Given the description of an element on the screen output the (x, y) to click on. 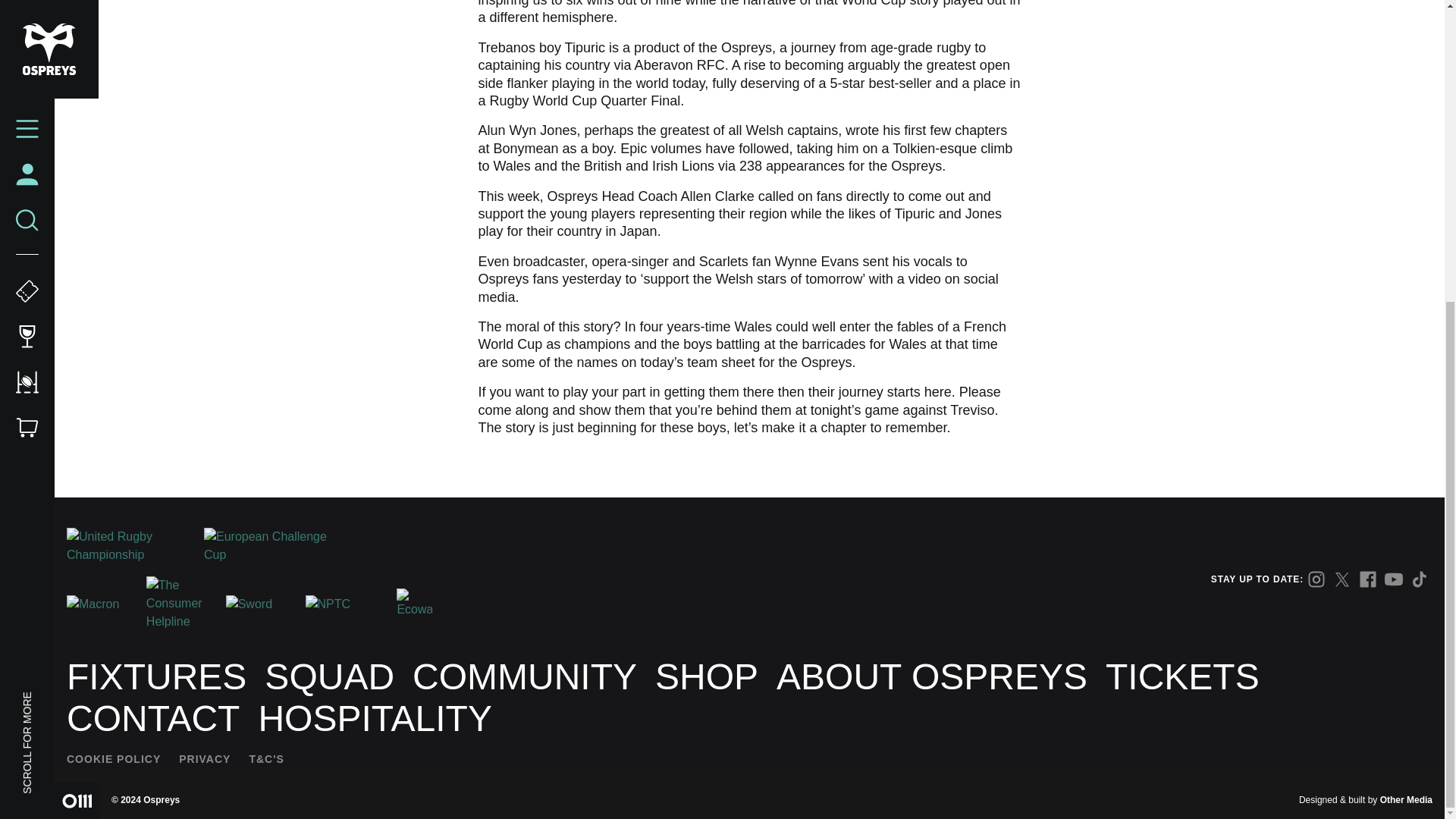
SCROLL FOR MORE (71, 229)
Ecowatt (414, 603)
United Rugby Championship (129, 545)
Facebook (1367, 579)
NPTC (338, 604)
Macron (99, 604)
European Challenge Cup (266, 545)
YouTube (1393, 579)
TikTok (1419, 579)
Instagram (1315, 579)
